Given the description of an element on the screen output the (x, y) to click on. 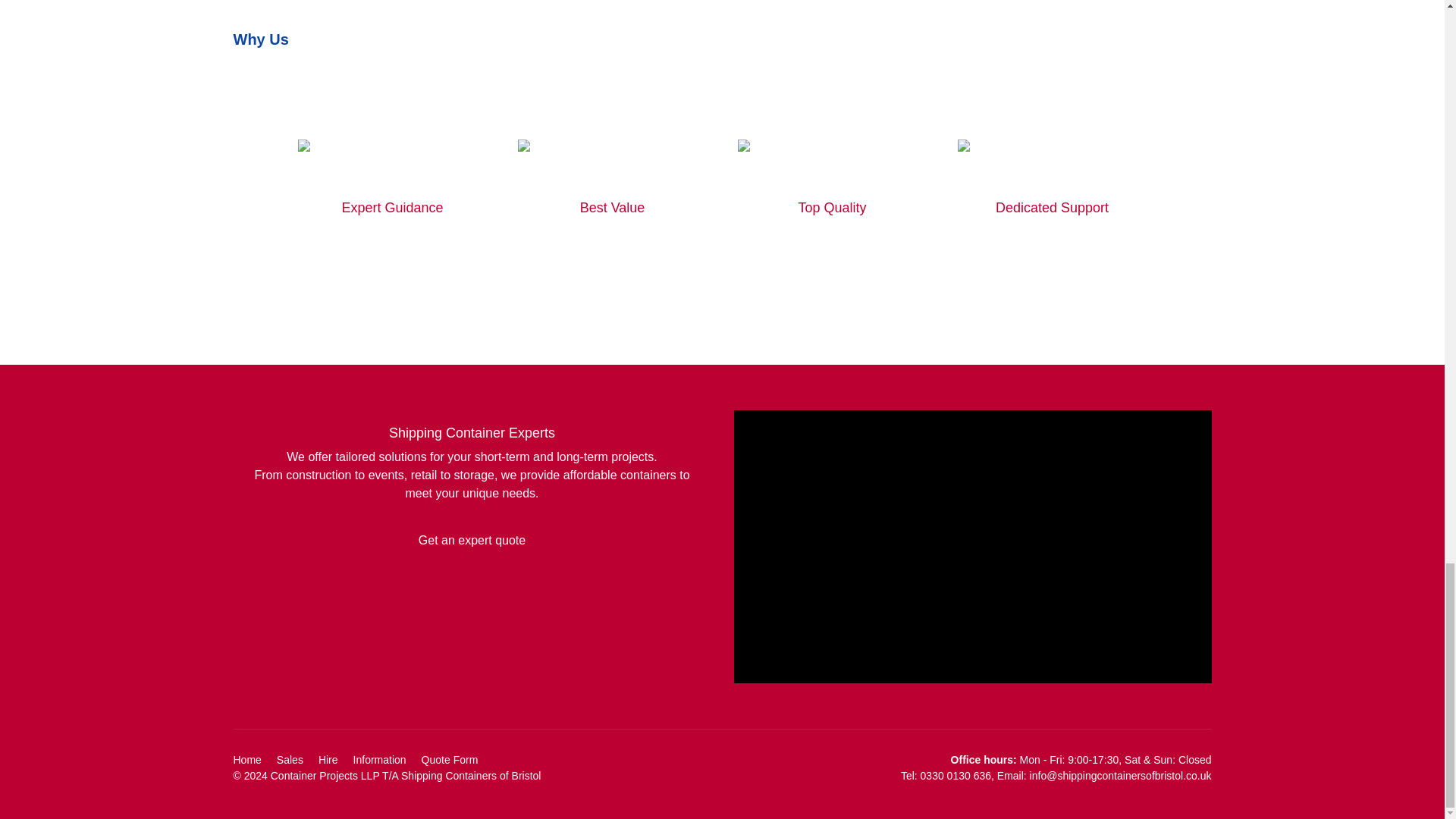
Get an expert quote (472, 540)
